Given the description of an element on the screen output the (x, y) to click on. 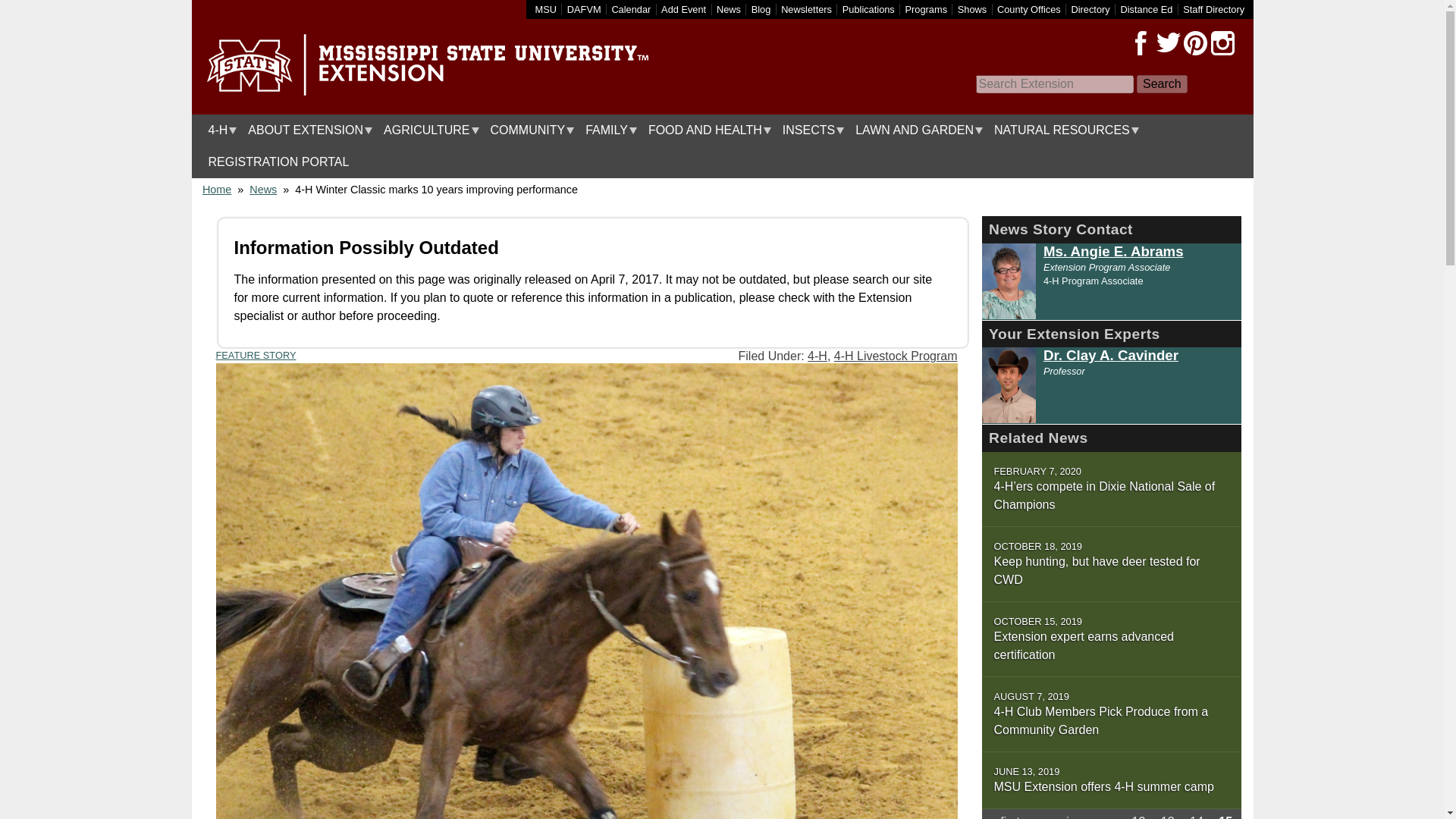
4-H (218, 130)
DAFVM (584, 9)
Search (1162, 84)
MSU (545, 9)
Facebook (1140, 43)
Add Event (683, 9)
Twitter (1167, 43)
Programs (926, 9)
News (728, 9)
County Offices (1029, 9)
Blog (761, 9)
